Given the description of an element on the screen output the (x, y) to click on. 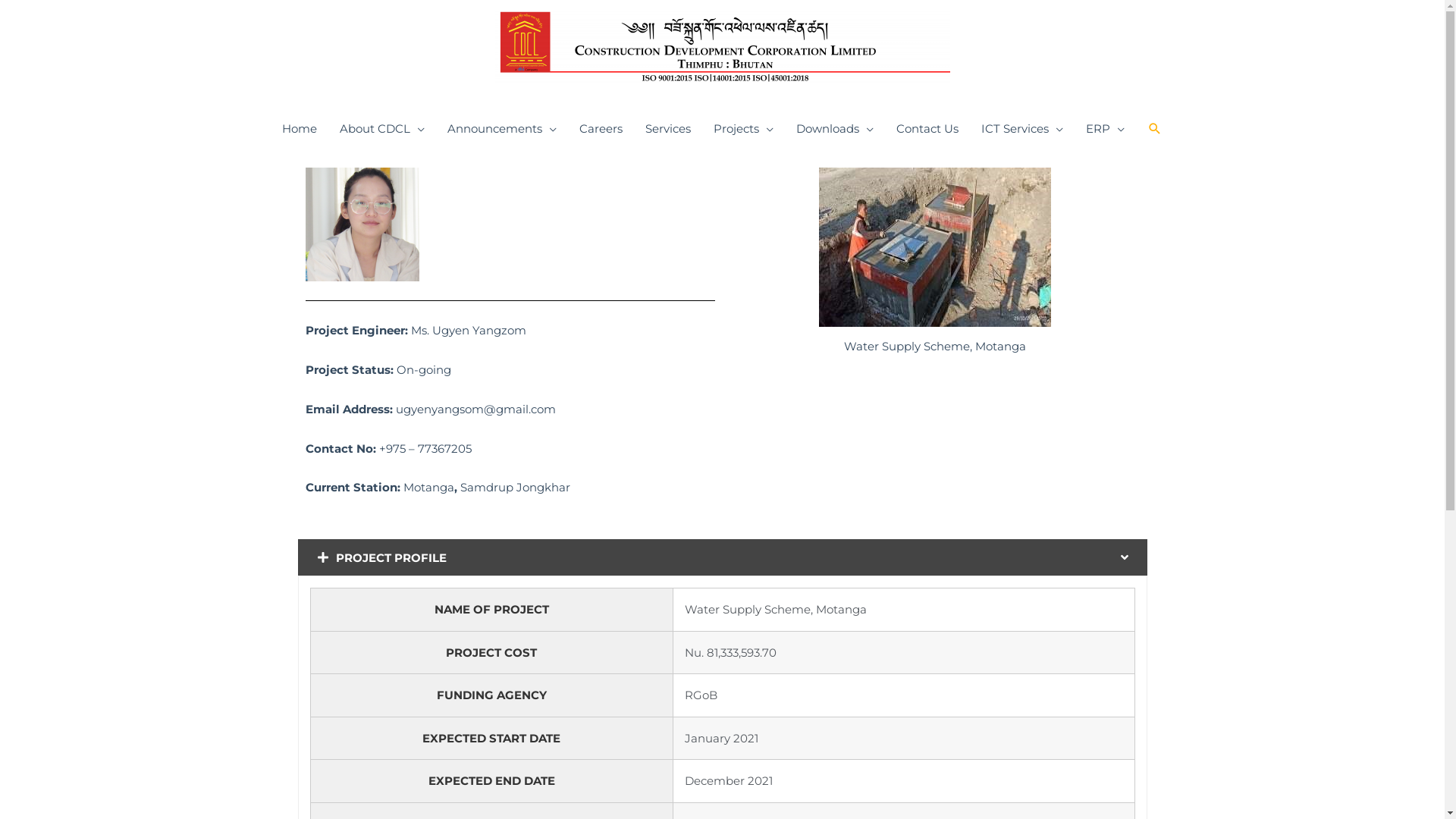
Services Element type: text (667, 128)
About CDCL Element type: text (382, 128)
Home Element type: text (299, 128)
Contact Us Element type: text (926, 128)
Search Element type: text (30, 19)
ERP Element type: text (1104, 128)
Careers Element type: text (600, 128)
Downloads Element type: text (834, 128)
Announcements Element type: text (501, 128)
Projects Element type: text (743, 128)
ICT Services Element type: text (1021, 128)
